Given the description of an element on the screen output the (x, y) to click on. 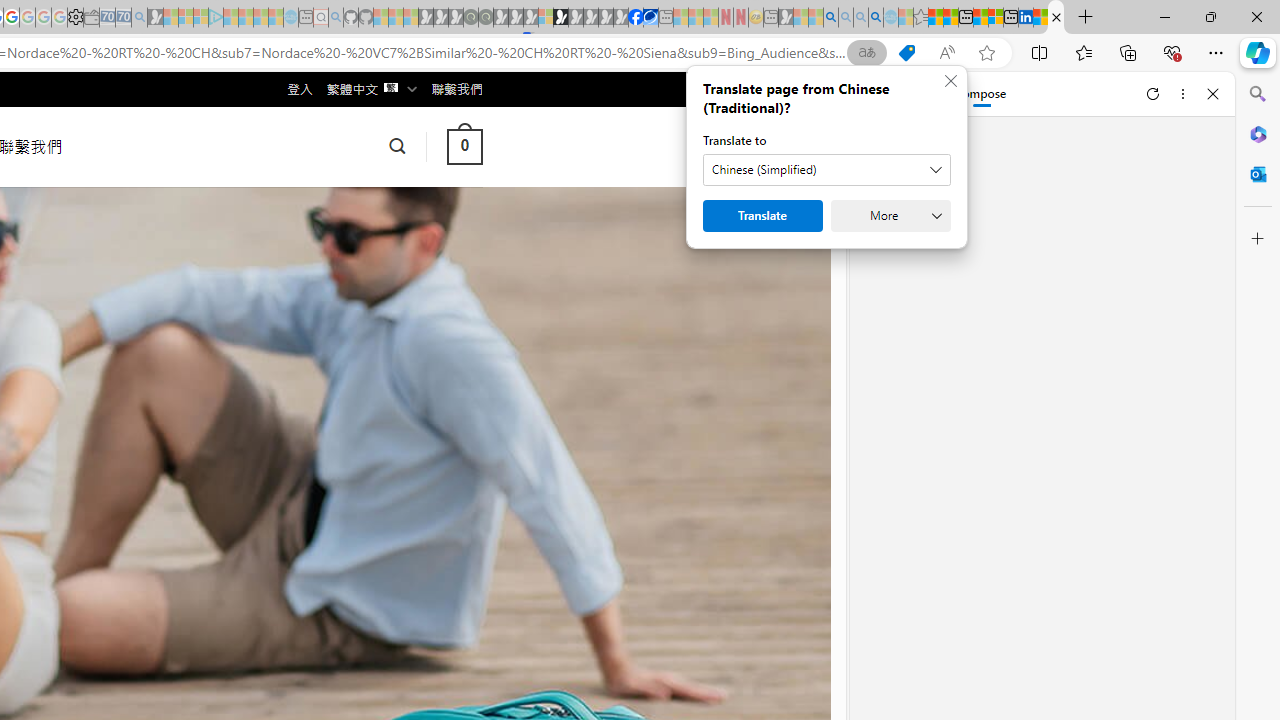
Microsoft Start Gaming - Sleeping (155, 17)
